Given the description of an element on the screen output the (x, y) to click on. 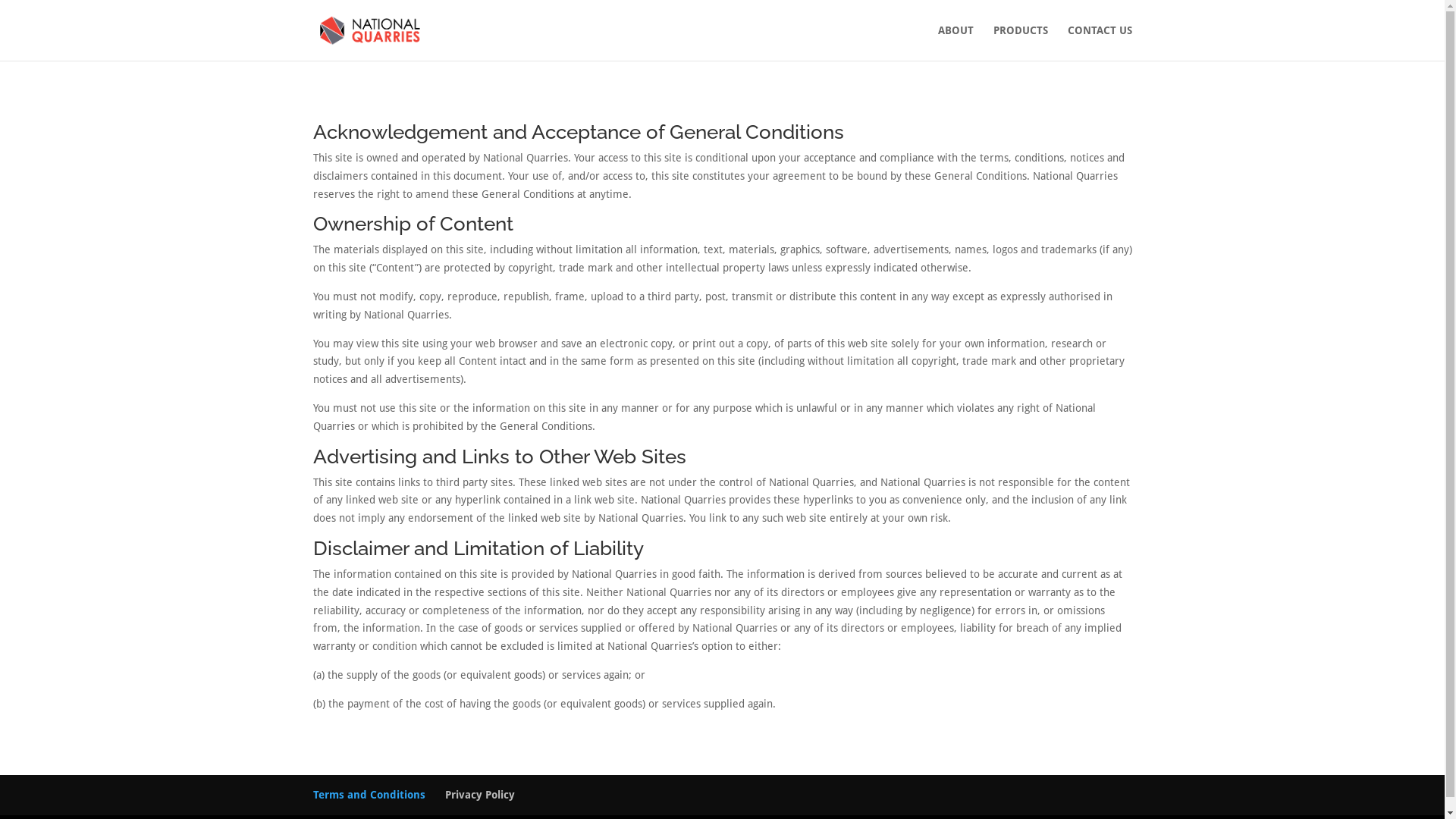
Privacy Policy Element type: text (479, 794)
PRODUCTS Element type: text (1020, 42)
CONTACT US Element type: text (1099, 42)
Terms and Conditions Element type: text (368, 794)
ABOUT Element type: text (954, 42)
